Given the description of an element on the screen output the (x, y) to click on. 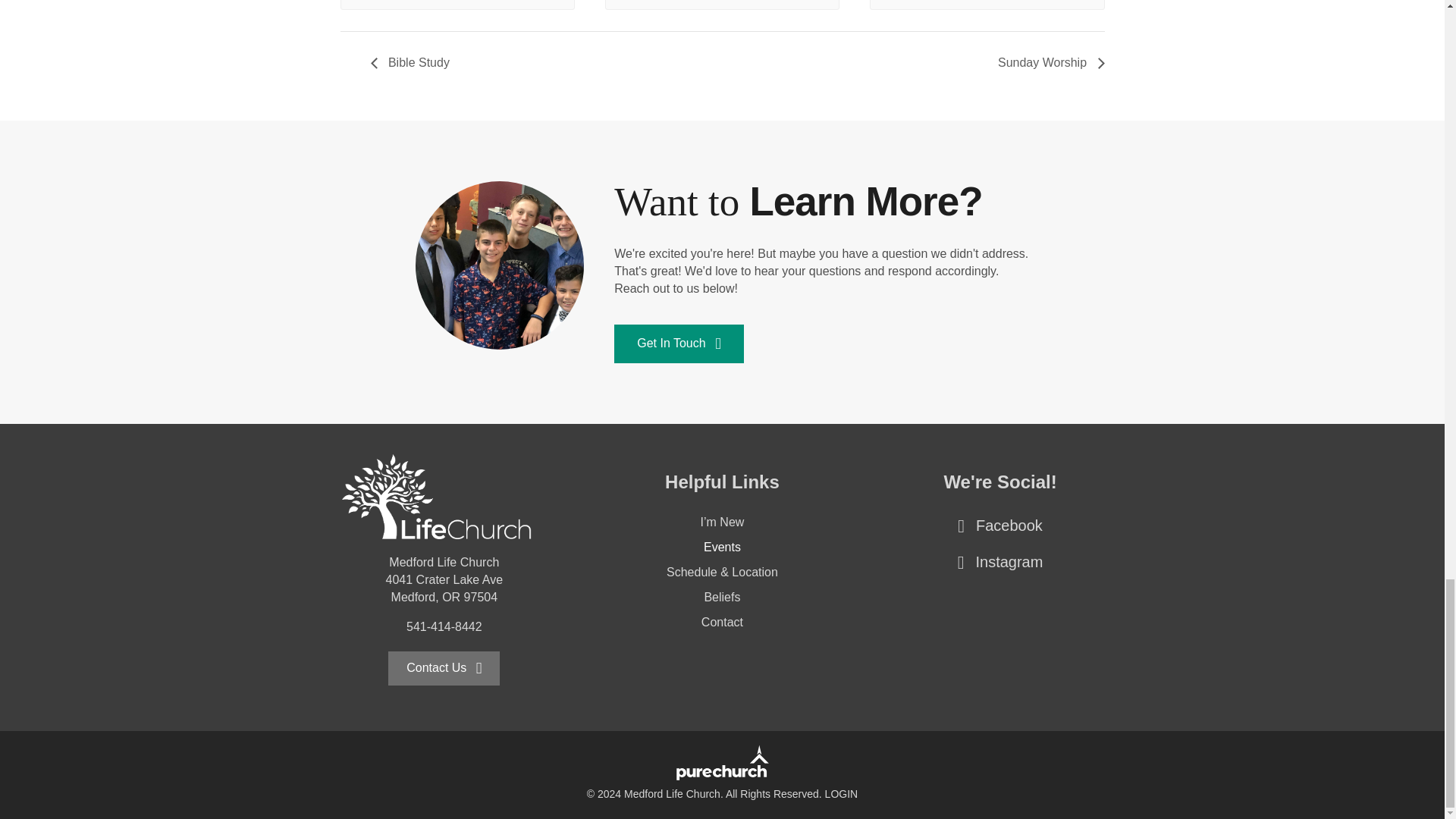
LifeChurch-bw (436, 499)
young people smiling at Medford Life Church (499, 265)
pure-church-main-logo-wb-08-300x131 (721, 763)
